Given the description of an element on the screen output the (x, y) to click on. 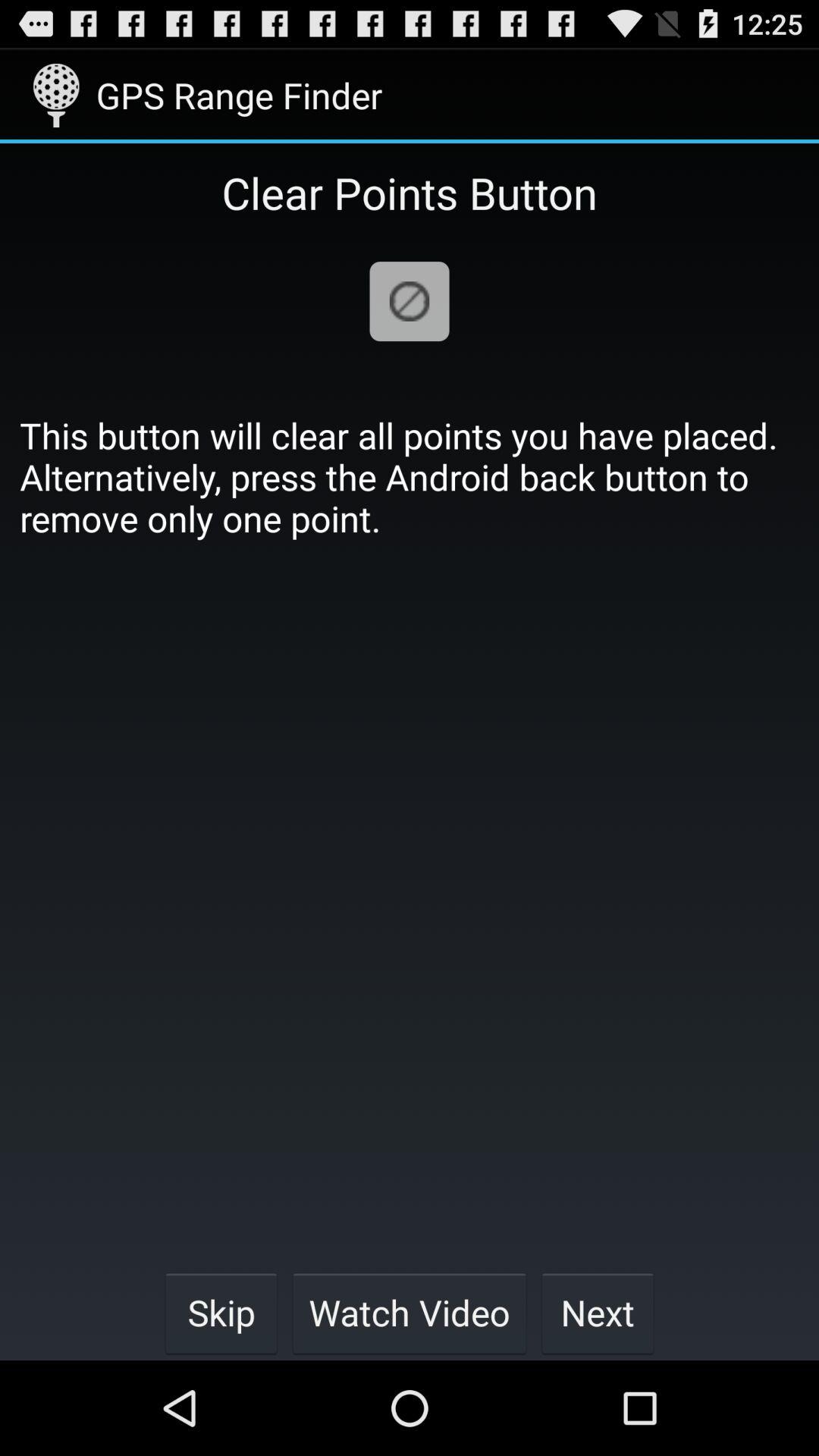
press item below the this button will icon (597, 1312)
